Given the description of an element on the screen output the (x, y) to click on. 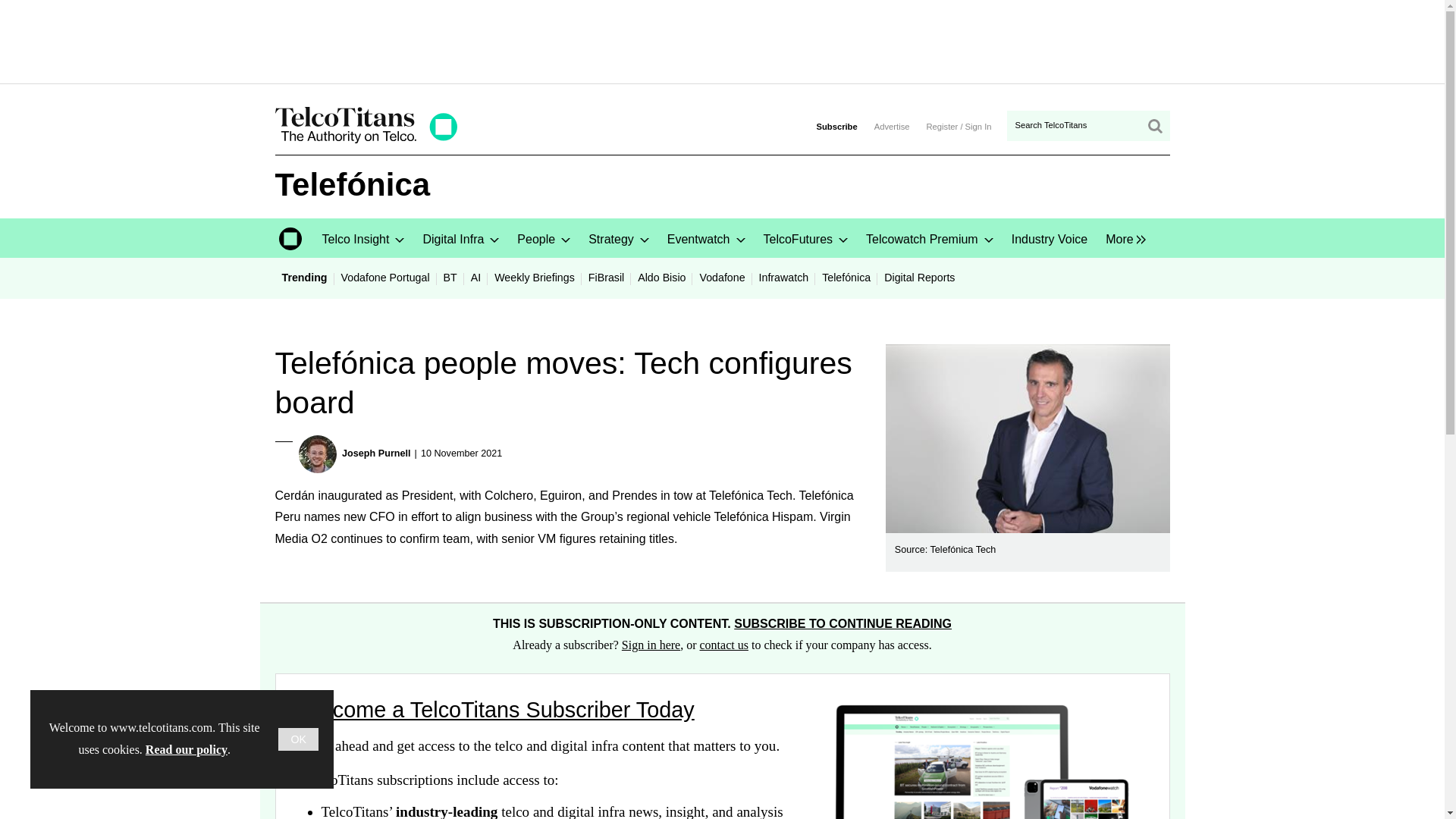
BT (450, 277)
Subscribe (836, 126)
FiBrasil (605, 277)
3rd party ad content (722, 41)
Vodafone Portugal (385, 277)
Read our policy (186, 748)
Advertise (892, 126)
Weekly Briefings (533, 277)
OK (298, 739)
AI (475, 277)
Infrawatch (783, 277)
Aldo Bisio (661, 277)
Search (1153, 125)
Digital Reports (918, 277)
Telco Titans (366, 138)
